Given the description of an element on the screen output the (x, y) to click on. 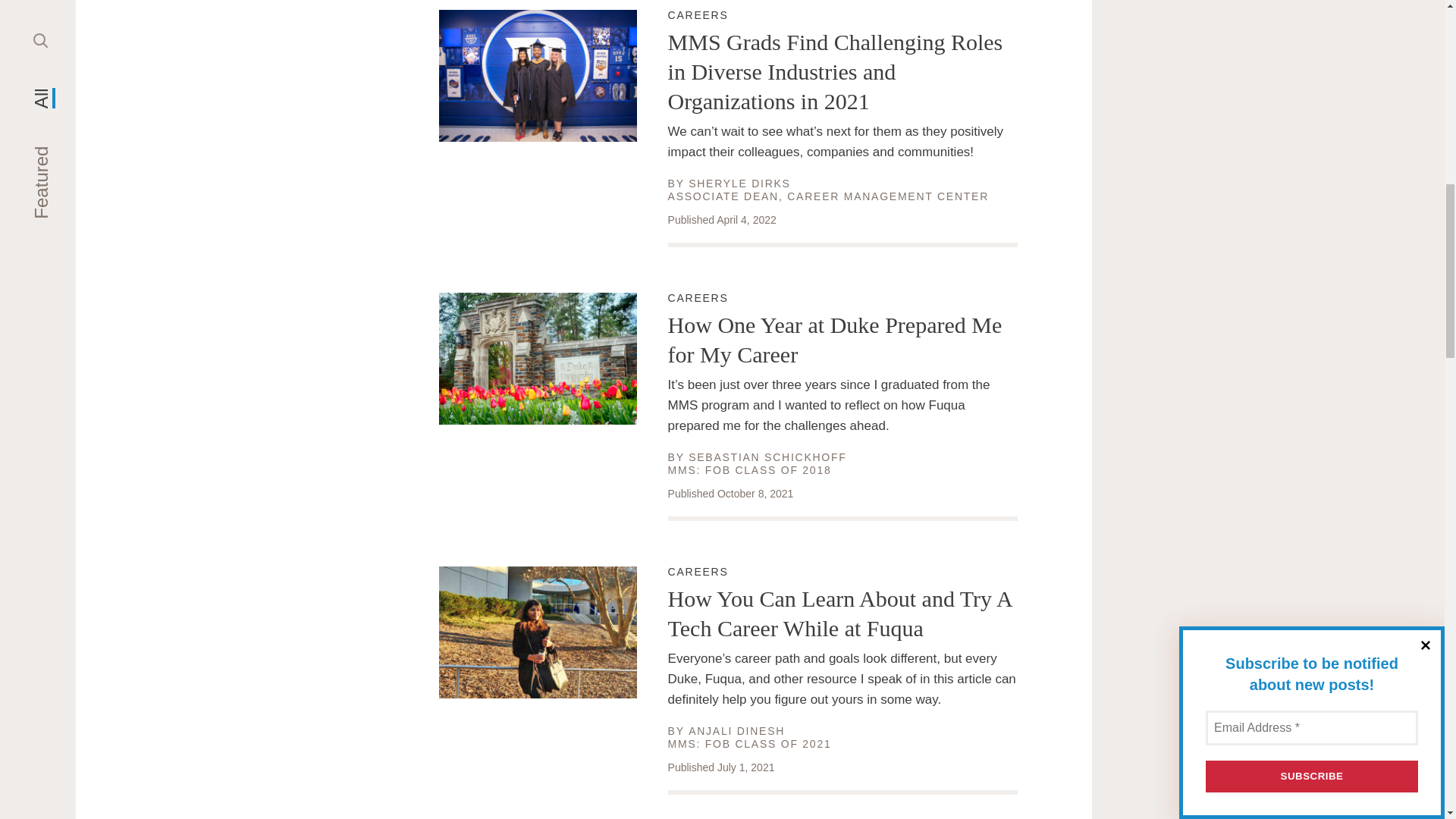
How One Year at Duke Prepared Me for My Career (842, 572)
How You Can Learn About and Try A Tech Career While at Fuqua (842, 298)
